Given the description of an element on the screen output the (x, y) to click on. 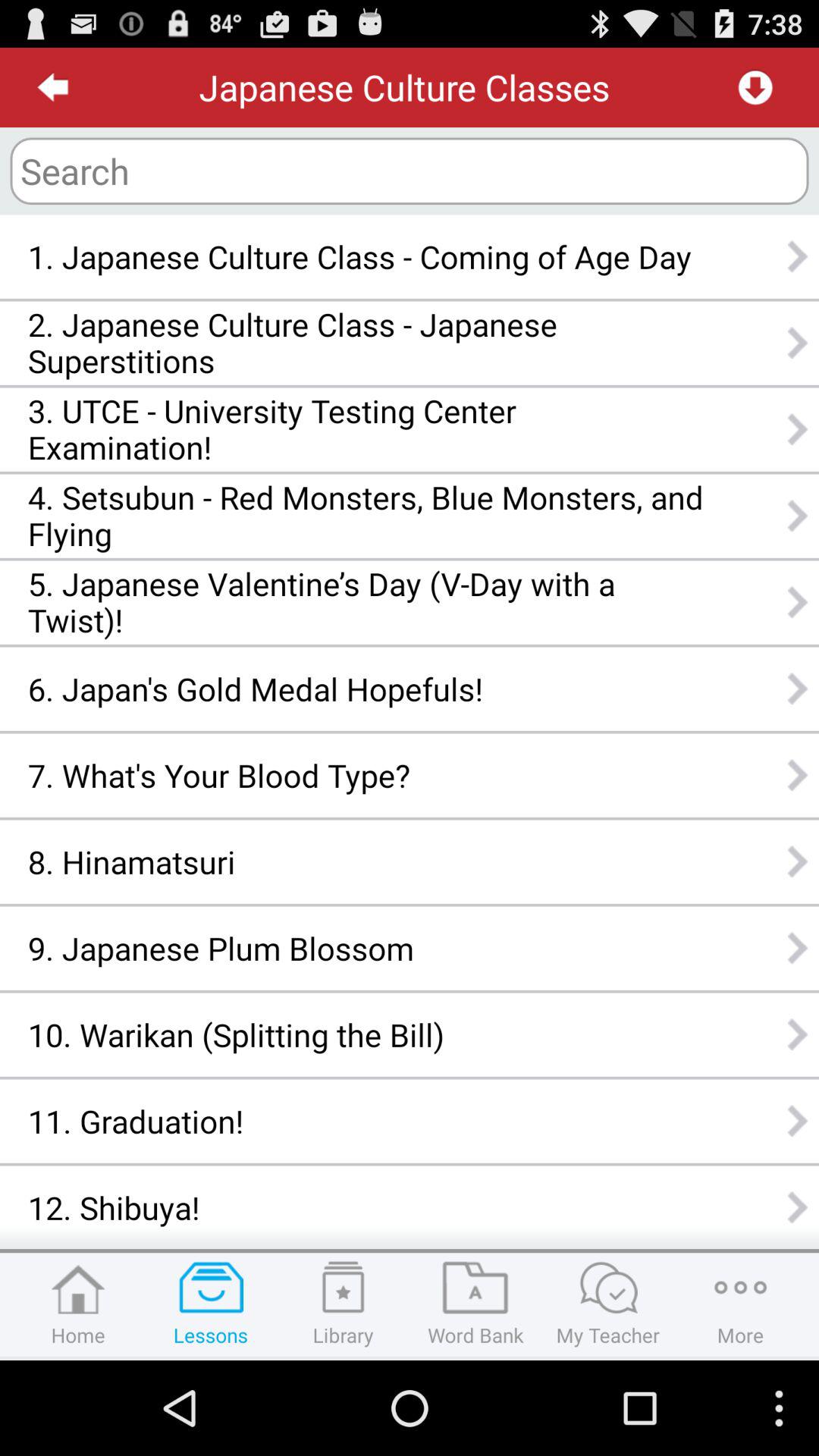
select the 3 utce university item (365, 429)
